Given the description of an element on the screen output the (x, y) to click on. 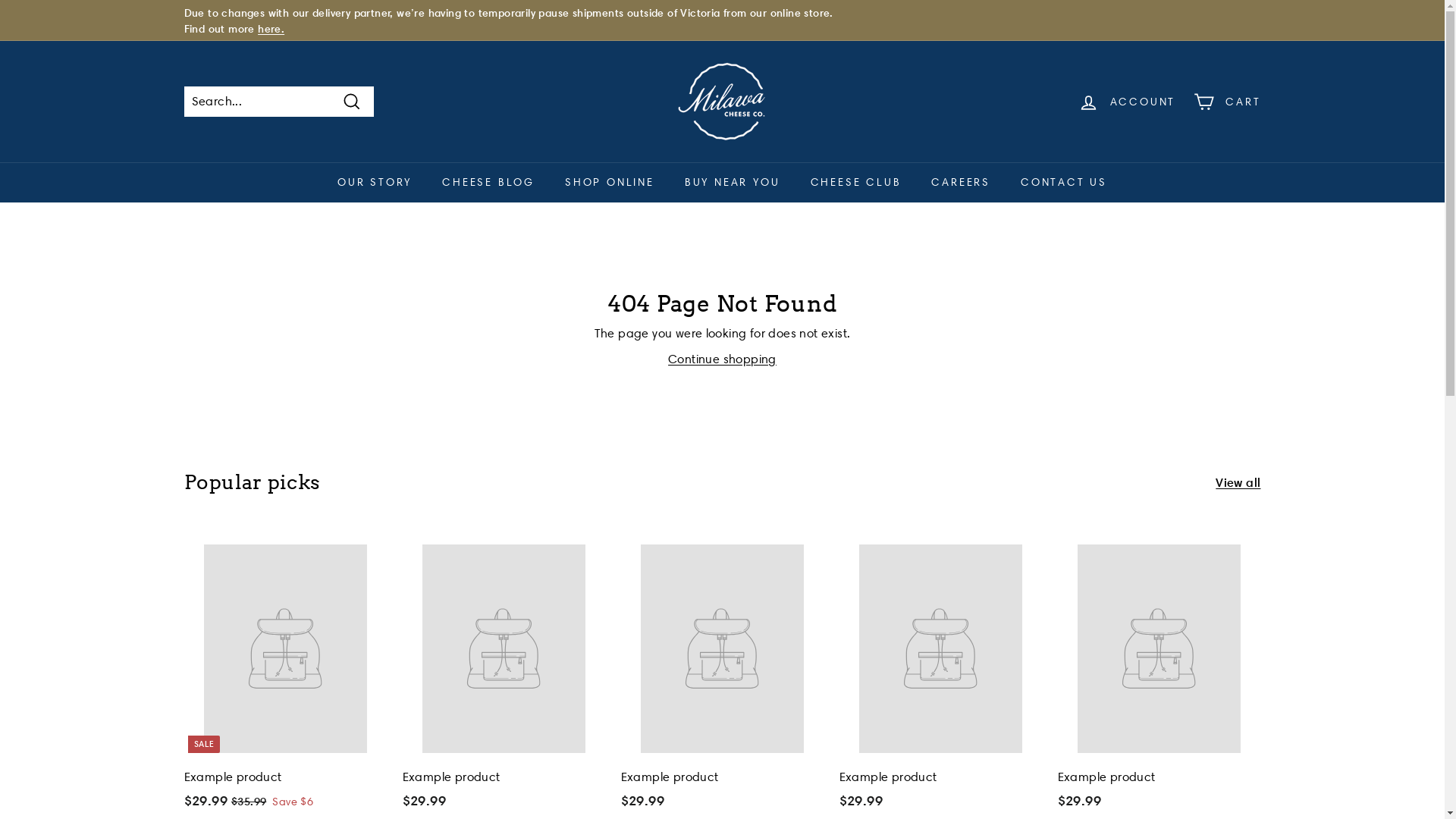
SHOP ONLINE Element type: text (609, 182)
ACCOUNT Element type: text (1127, 100)
here. Element type: text (270, 27)
CHEESE BLOG Element type: text (487, 182)
OUR STORY Element type: text (374, 182)
CHEESE CLUB Element type: text (855, 182)
BUY NEAR YOU Element type: text (732, 182)
View all Element type: text (1237, 482)
Continue shopping Element type: text (722, 358)
CONTACT US Element type: text (1063, 182)
CAREERS Element type: text (960, 182)
